Given the description of an element on the screen output the (x, y) to click on. 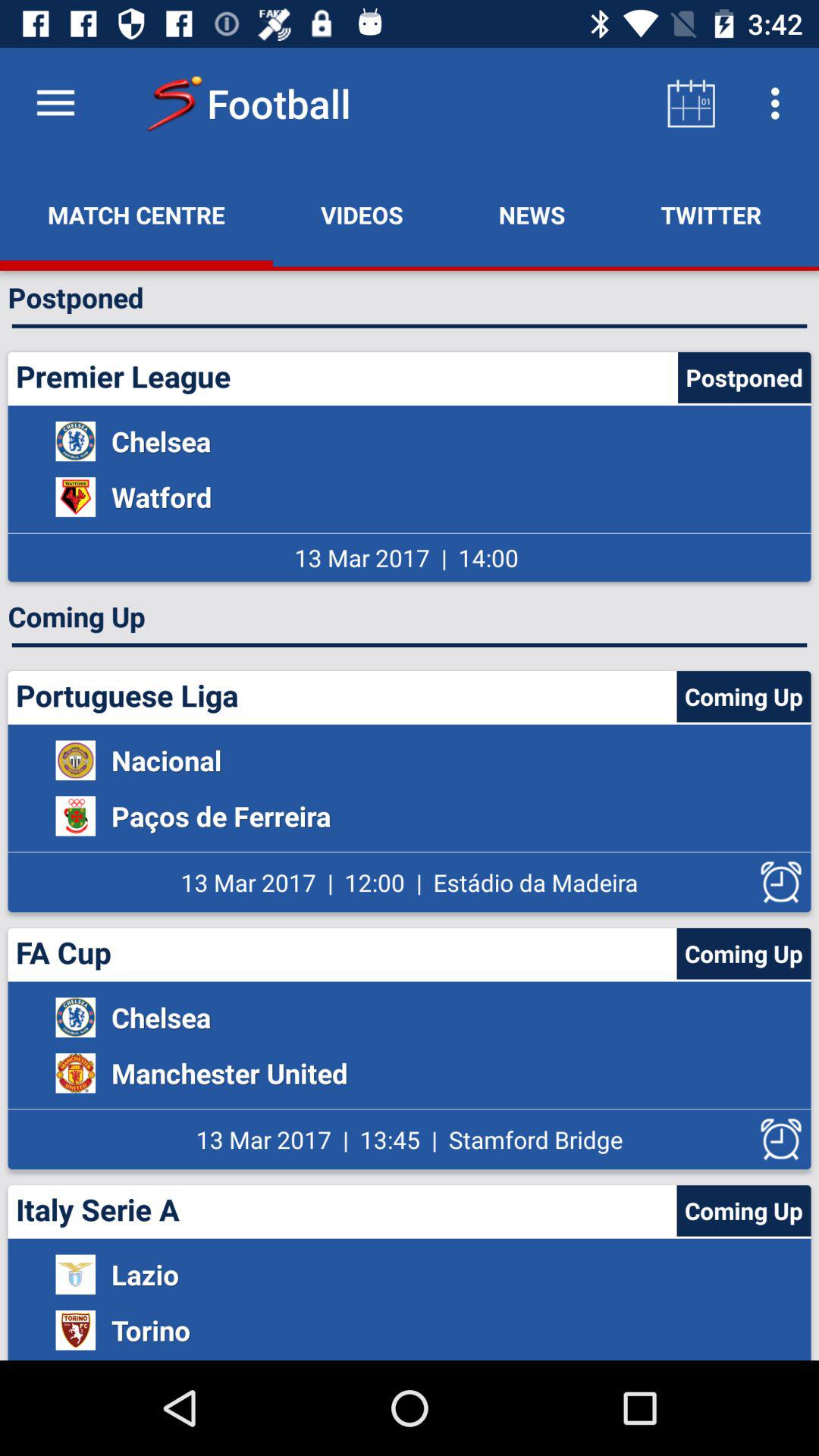
click on the menu option (55, 103)
